Given the description of an element on the screen output the (x, y) to click on. 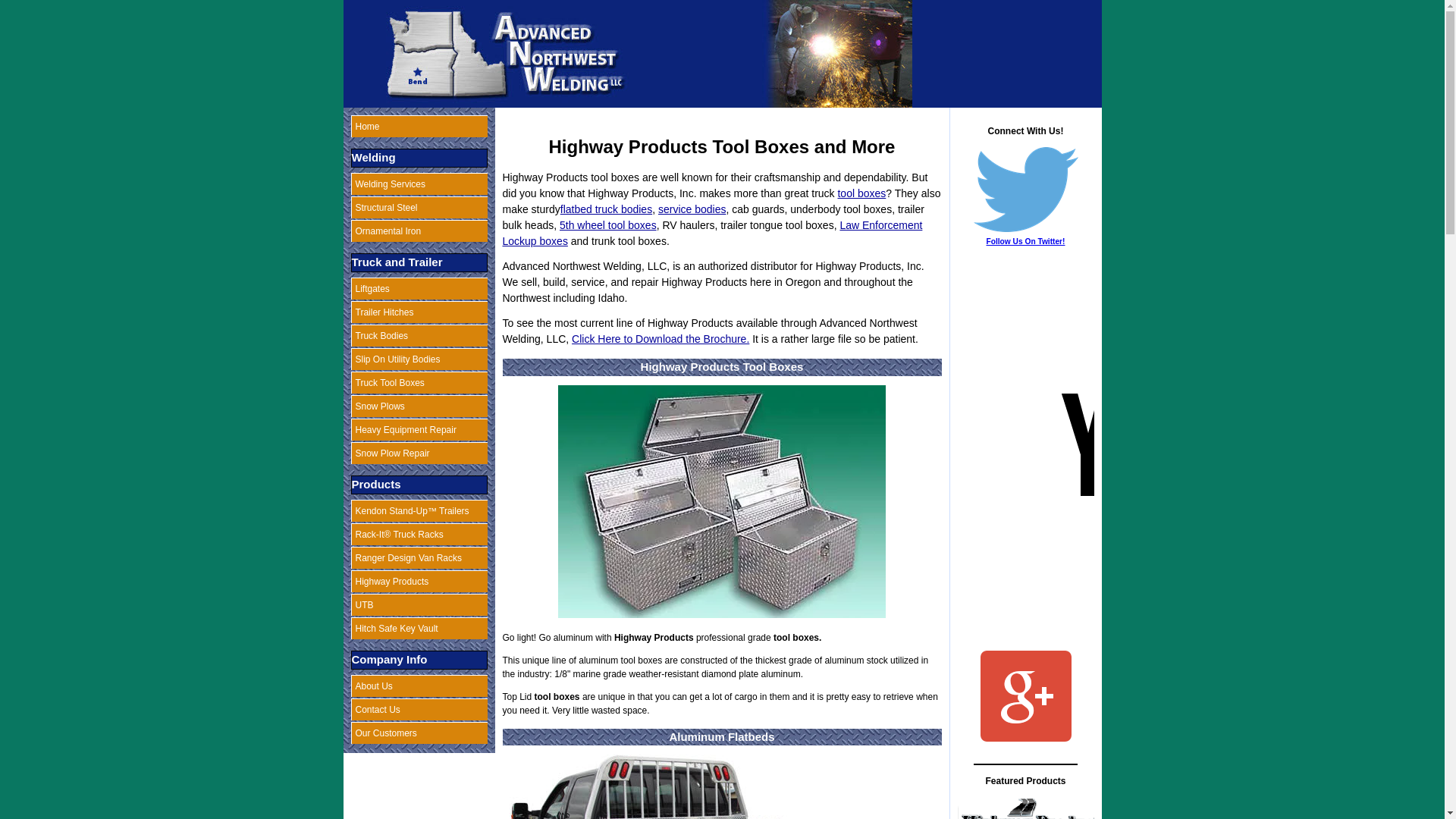
Snow Plows (418, 405)
service bodies (692, 209)
Heavy Equipment Repair (418, 429)
flatbed truck bodies (606, 209)
Law Enforcement Lockup boxes (711, 233)
Click Here to Download the Brochure. (660, 338)
Welding Services (418, 183)
Snow Plow Repair (418, 453)
Contact Us (418, 709)
Home (418, 126)
5th wheel tool boxes (607, 224)
Highway Products (418, 581)
UTB (418, 604)
Follow Us On Twitter! (1026, 189)
Truck Bodies (418, 335)
